Given the description of an element on the screen output the (x, y) to click on. 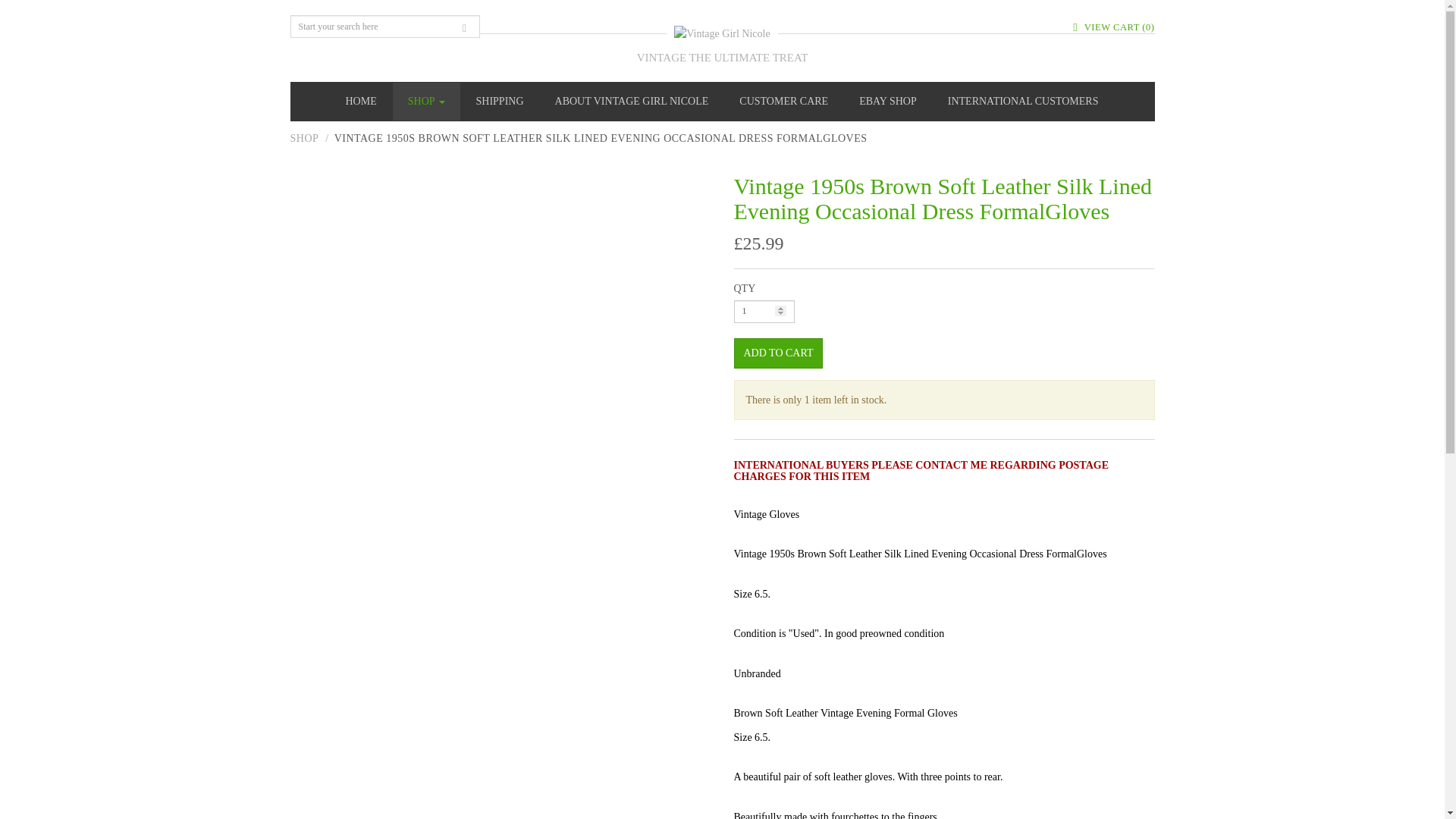
EBAY SHOP (887, 101)
Add to Cart (778, 353)
ABOUT VINTAGE GIRL NICOLE (631, 101)
HOME (360, 101)
INTERNATIONAL CUSTOMERS (1023, 101)
CUSTOMER CARE (783, 101)
SHOP (426, 101)
SHIPPING (499, 101)
1 (763, 311)
